Given the description of an element on the screen output the (x, y) to click on. 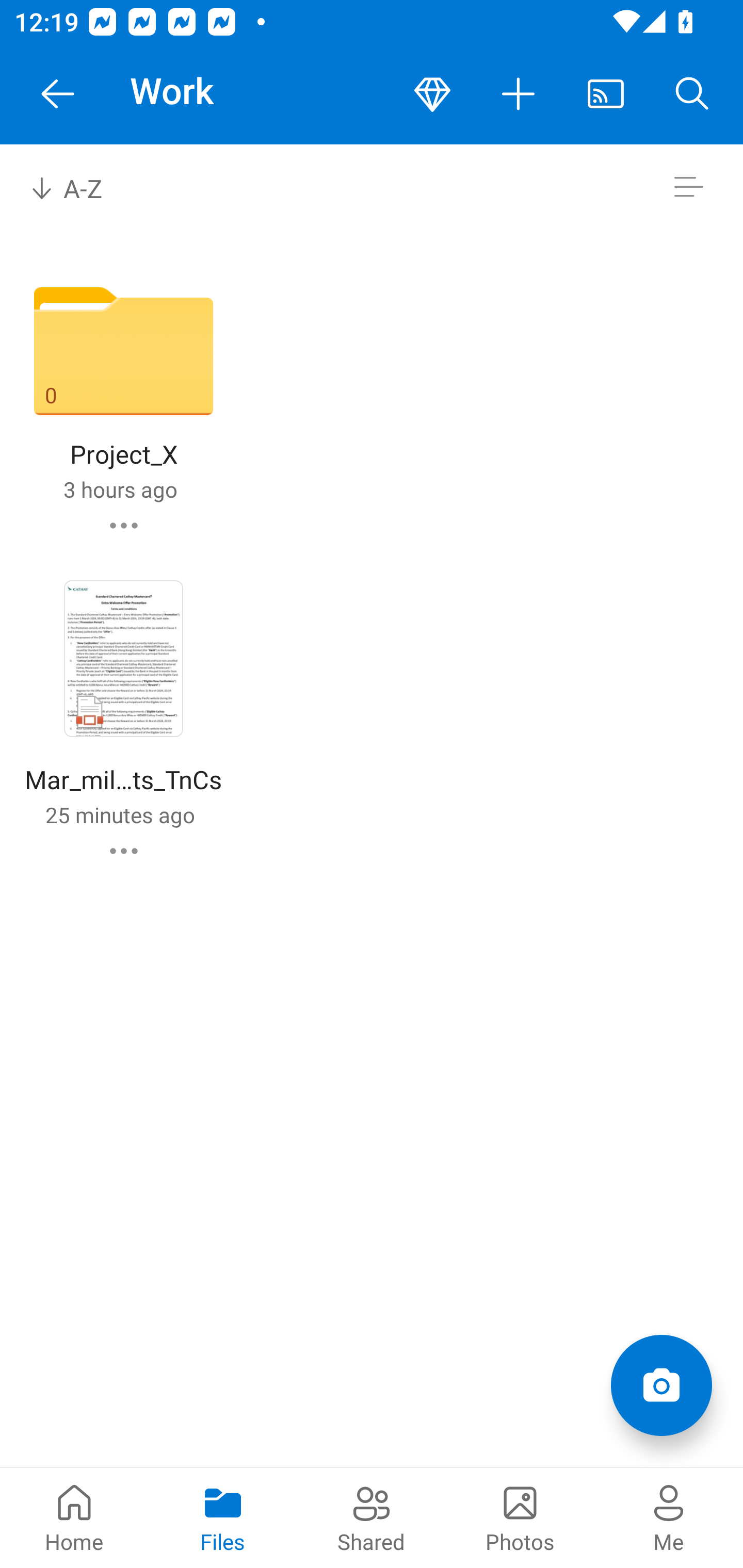
Navigate Up (57, 93)
Cast. Disconnected (605, 93)
Premium button (432, 93)
More actions button (518, 93)
Search button (692, 93)
A-Z Sort by combo box, sort by name, A to Z (80, 187)
Switch to list view (688, 187)
3 hours ago (119, 489)
Project_X commands (123, 525)
25 minutes ago (119, 814)
Mar_miles_cathaycredits_TnCs commands (123, 851)
Add items Scan (660, 1385)
Home pivot Home (74, 1517)
Shared pivot Shared (371, 1517)
Photos pivot Photos (519, 1517)
Me pivot Me (668, 1517)
